Given the description of an element on the screen output the (x, y) to click on. 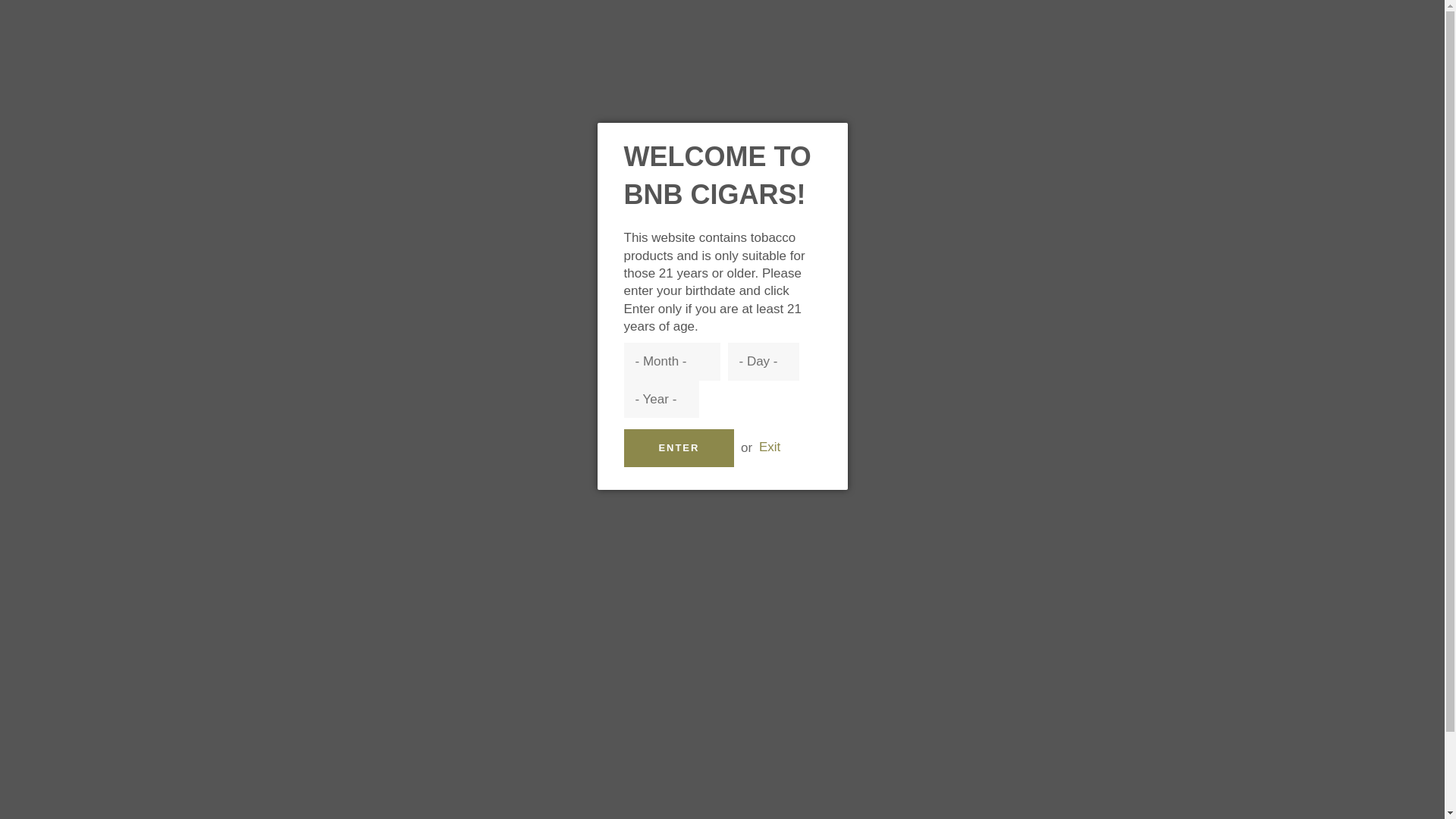
Search (1101, 58)
Exit (769, 447)
BnB International  on Instagram (1125, 711)
ENTER (678, 447)
SHOP (310, 139)
BnB International  on Facebook (1067, 711)
BnB International  on Twitter (1096, 711)
BEST SELLERS (413, 139)
Cart (1138, 58)
